Given the description of an element on the screen output the (x, y) to click on. 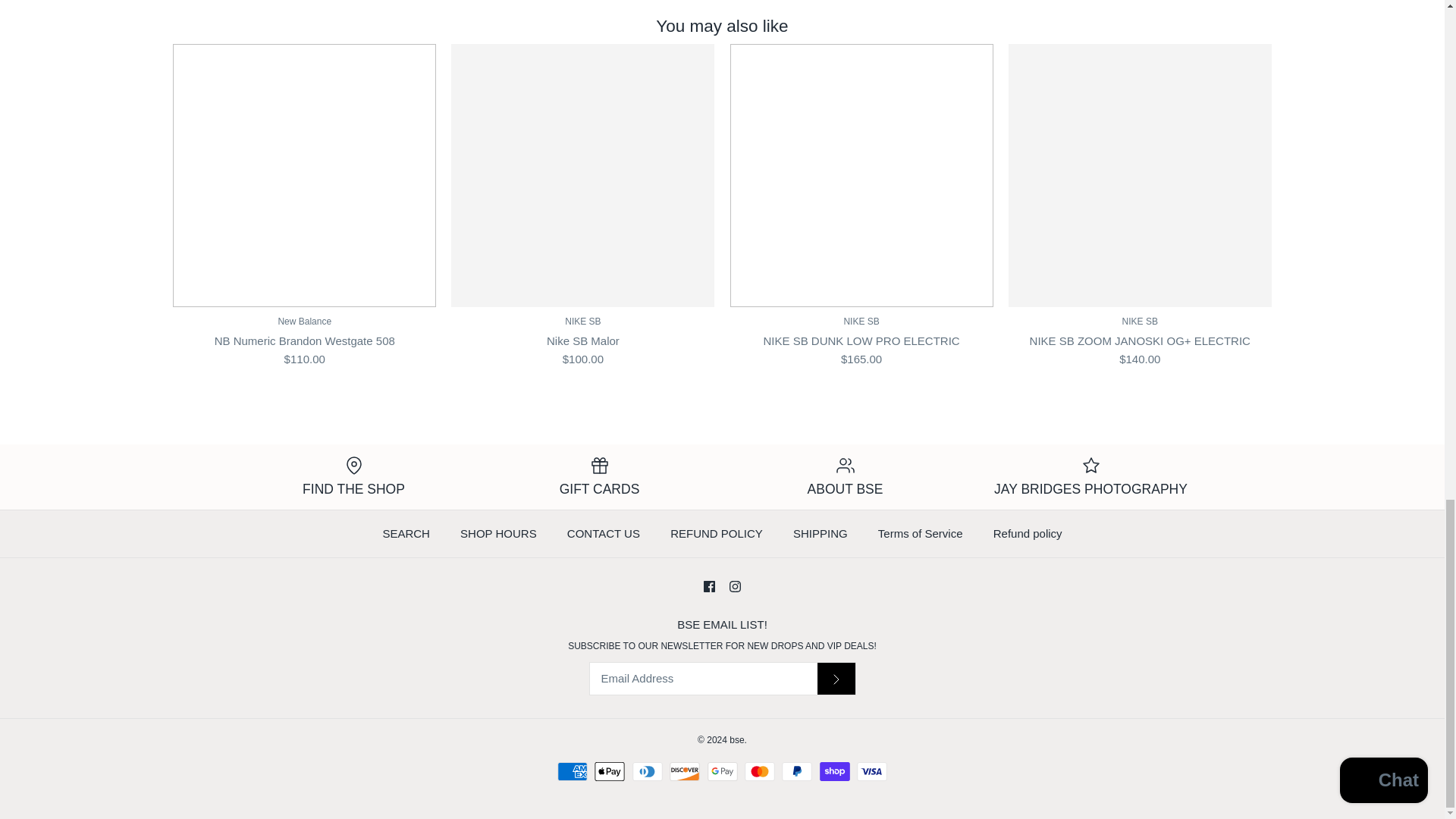
Facebook (708, 586)
Instagram (735, 586)
Instagram (735, 586)
Apple Pay (609, 771)
American Express (572, 771)
Facebook (708, 586)
